Given the description of an element on the screen output the (x, y) to click on. 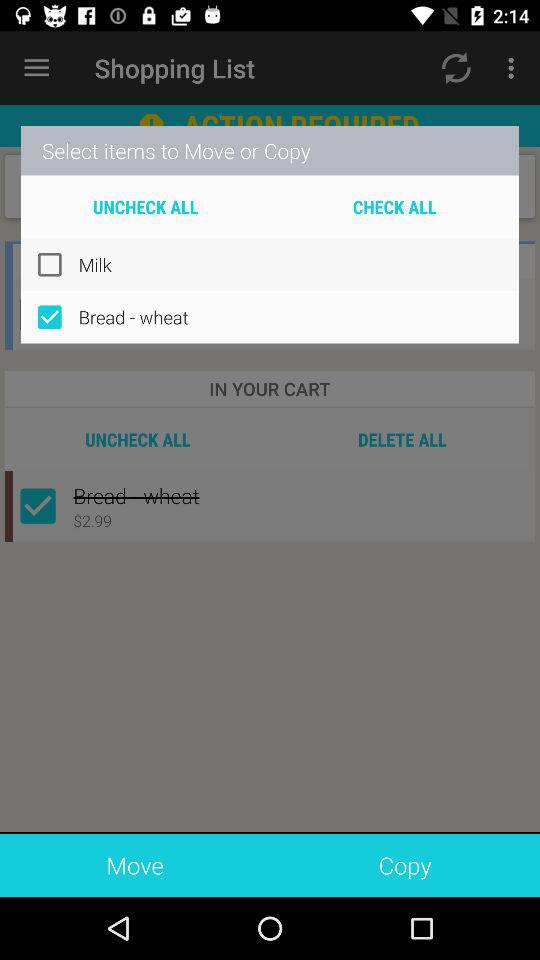
open select items to (270, 150)
